Given the description of an element on the screen output the (x, y) to click on. 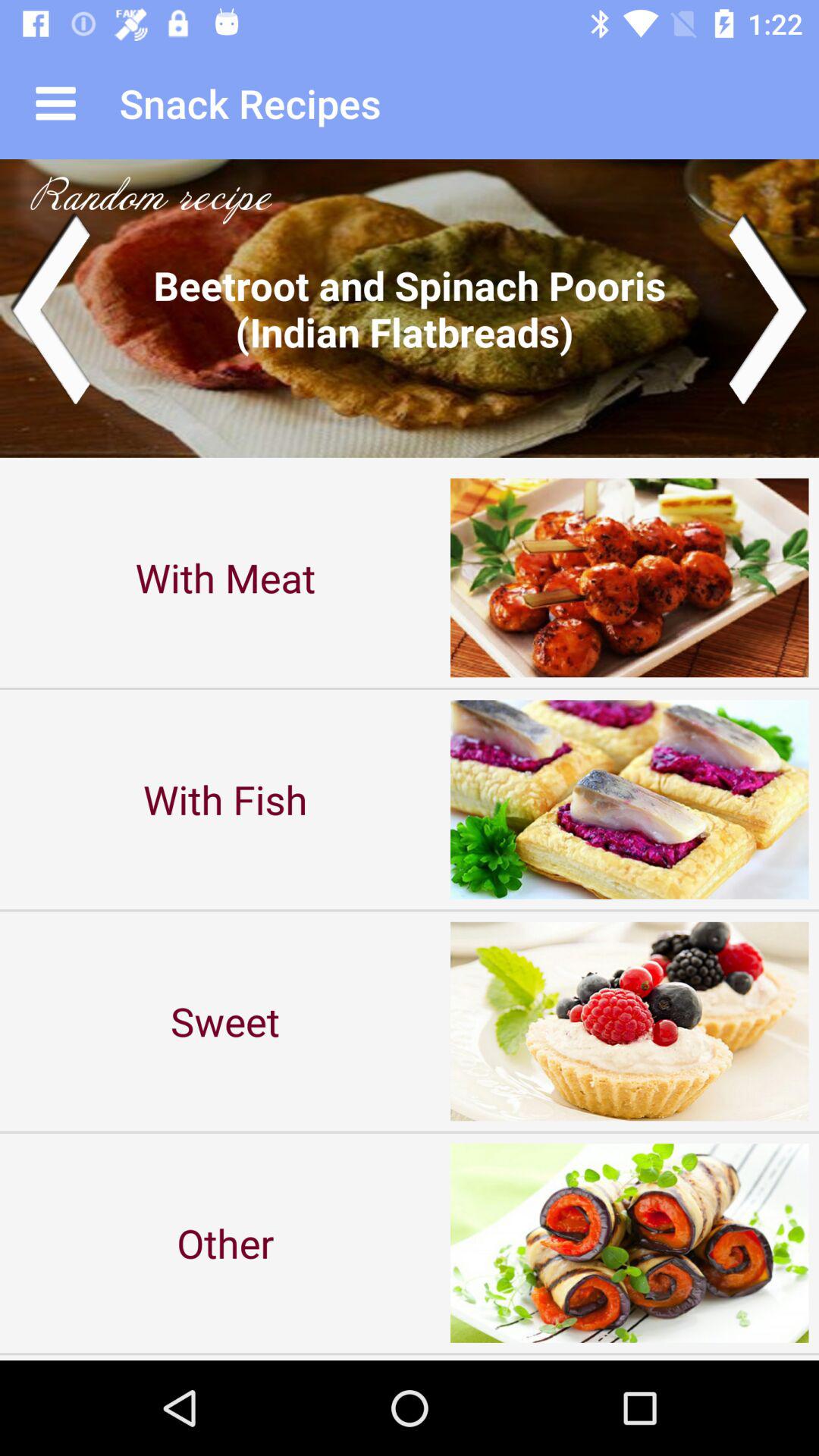
press item next to the snack recipes app (55, 103)
